Given the description of an element on the screen output the (x, y) to click on. 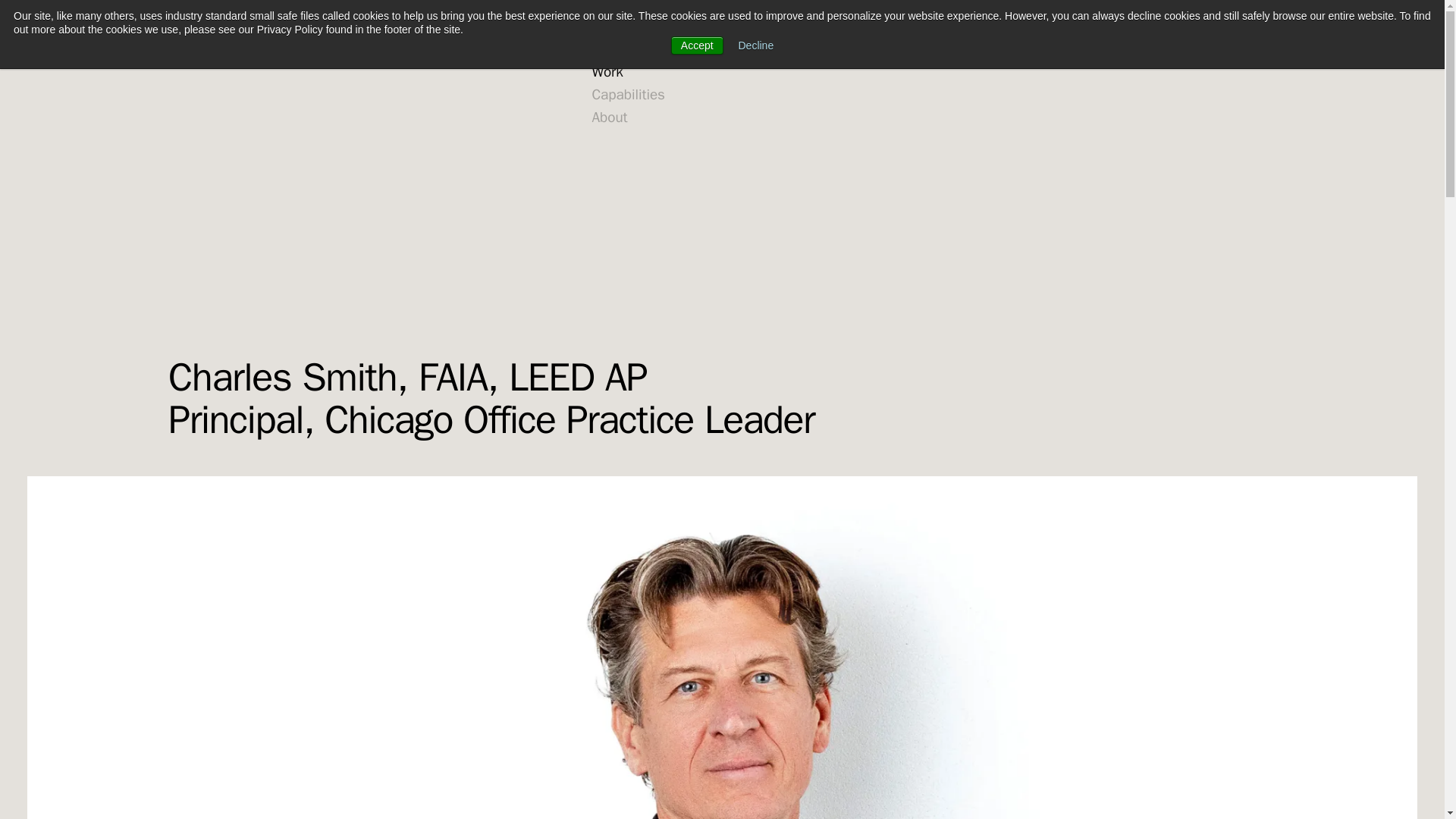
Accept (697, 45)
Search (1206, 26)
Culture (613, 49)
About (609, 117)
Contact (1136, 26)
Work (607, 72)
Decline (756, 45)
Capabilities (628, 94)
Careers (1063, 26)
Ambitions (622, 26)
